Given the description of an element on the screen output the (x, y) to click on. 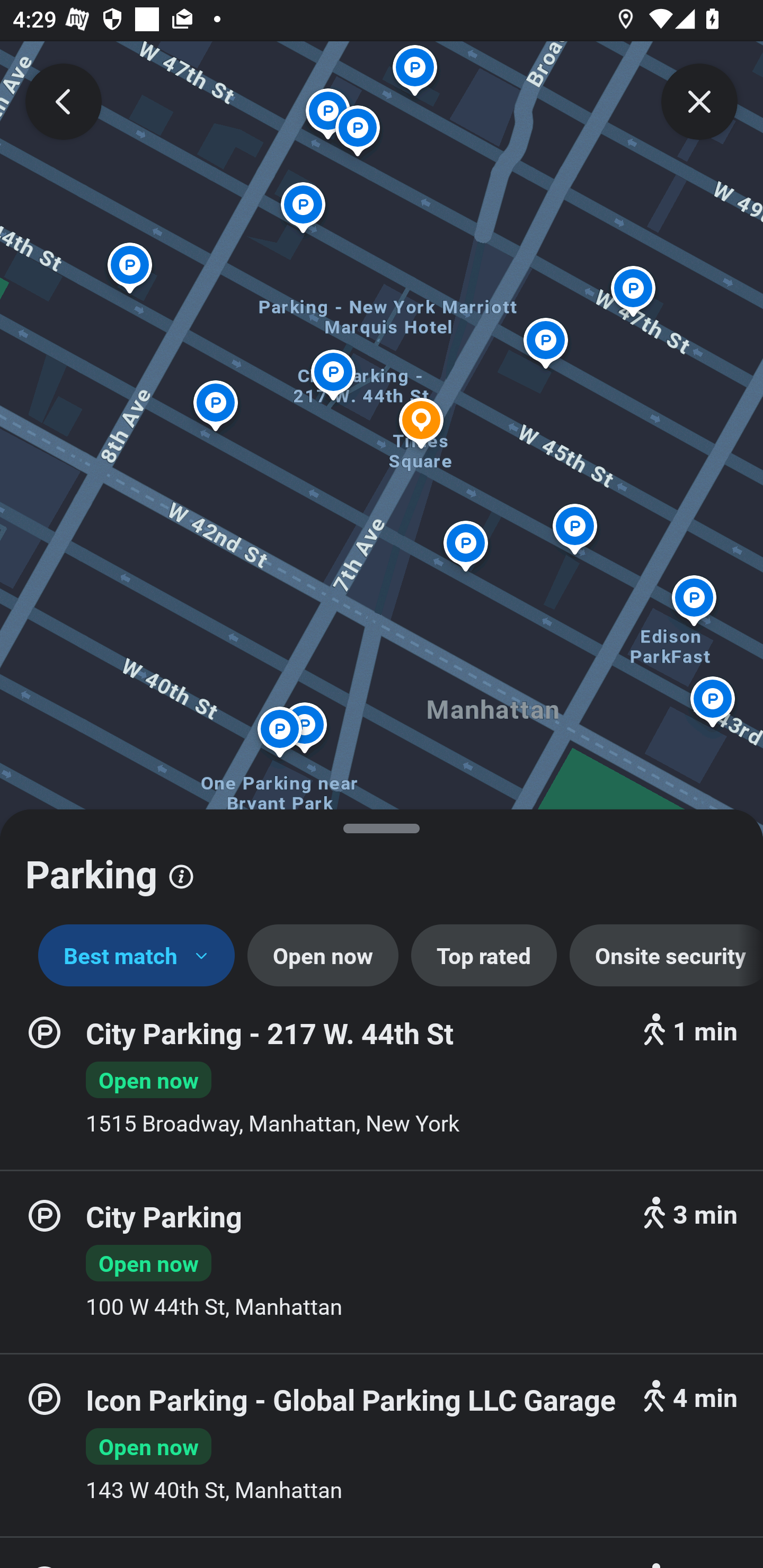
Parking (381, 867)
Best match (136, 955)
Open now (322, 955)
Top rated (483, 955)
Onsite security (666, 955)
